Given the description of an element on the screen output the (x, y) to click on. 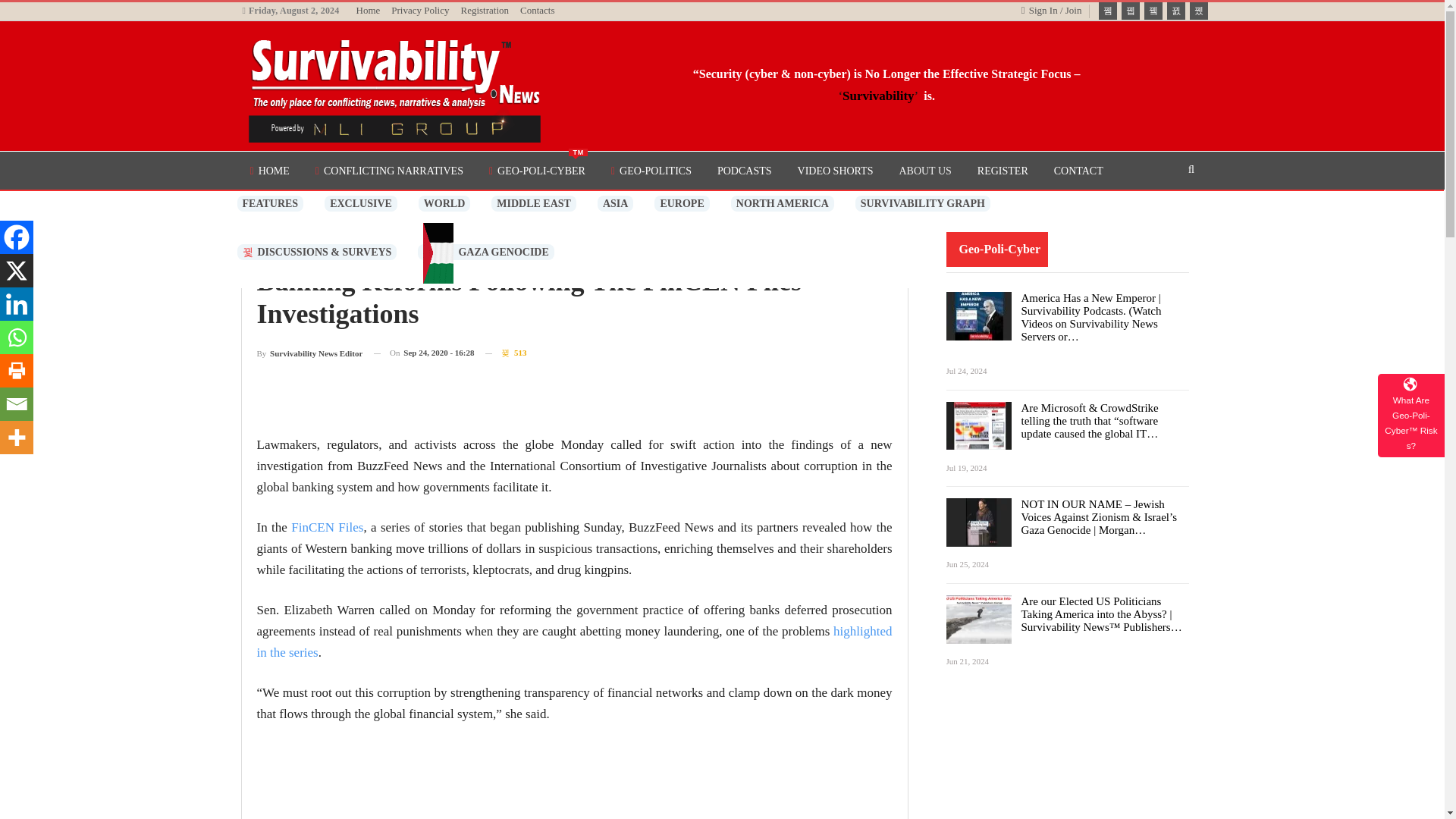
Linkedin (16, 304)
SURVIVABILITY GRAPH (536, 170)
ASIA (923, 203)
CONTACT (614, 203)
WORLD (1078, 170)
HOME (444, 203)
Email (267, 170)
EXCLUSIVE (16, 403)
Privacy Policy (360, 203)
ABOUT US (419, 9)
Whatsapp (923, 170)
CONFLICTING NARRATIVES (16, 337)
VIDEO SHORTS (388, 170)
Home (834, 170)
